Given the description of an element on the screen output the (x, y) to click on. 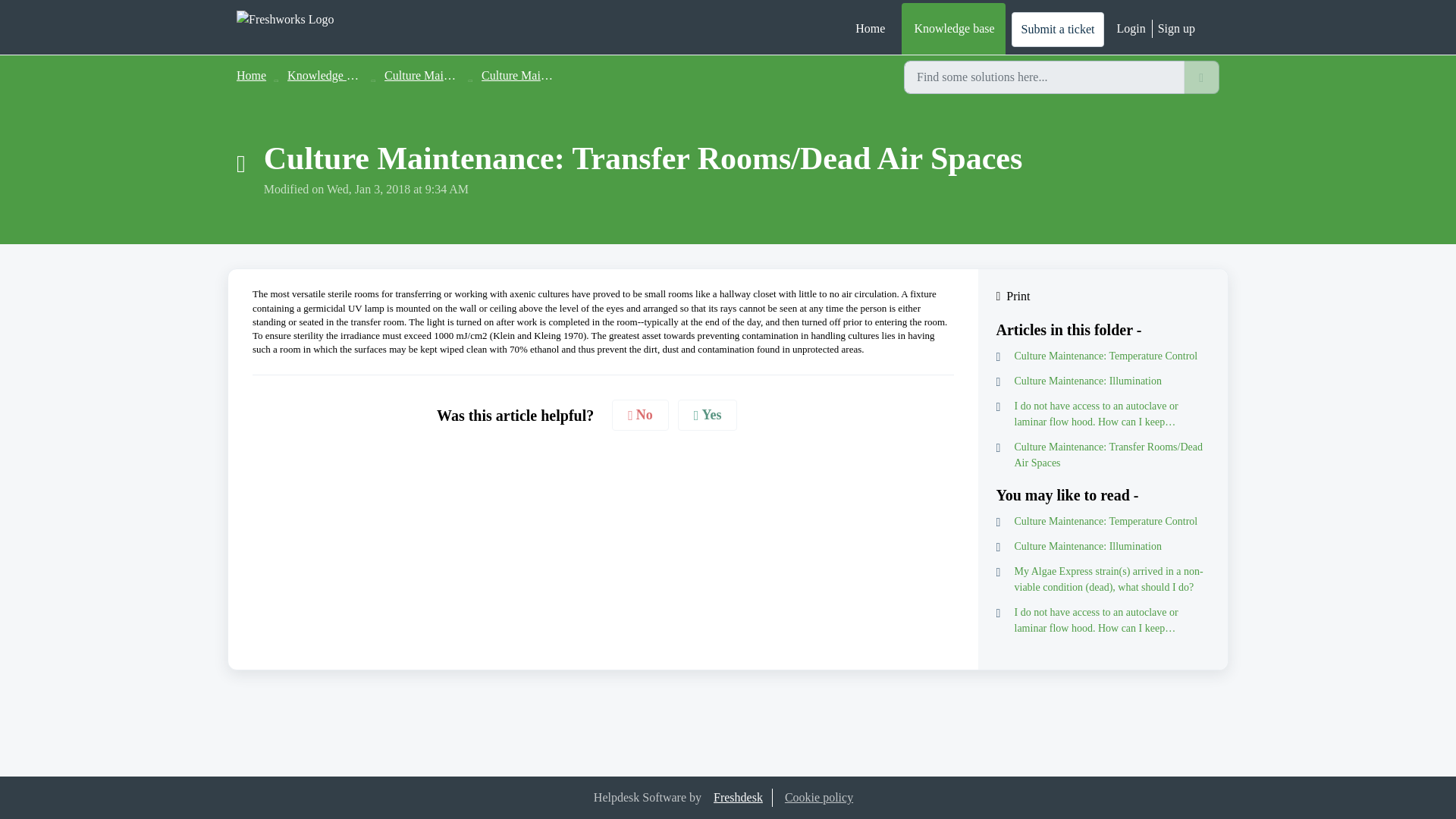
Culture Maintenance: Illumination (1102, 546)
Yes (708, 414)
Culture Maintenance (532, 74)
Knowledge base (952, 28)
Home (250, 74)
Knowledge base (327, 74)
Culture Maintenance: Temperature Control (1102, 355)
Culture Maintenance: Illumination (1102, 381)
Print (1102, 296)
No (639, 414)
